Given the description of an element on the screen output the (x, y) to click on. 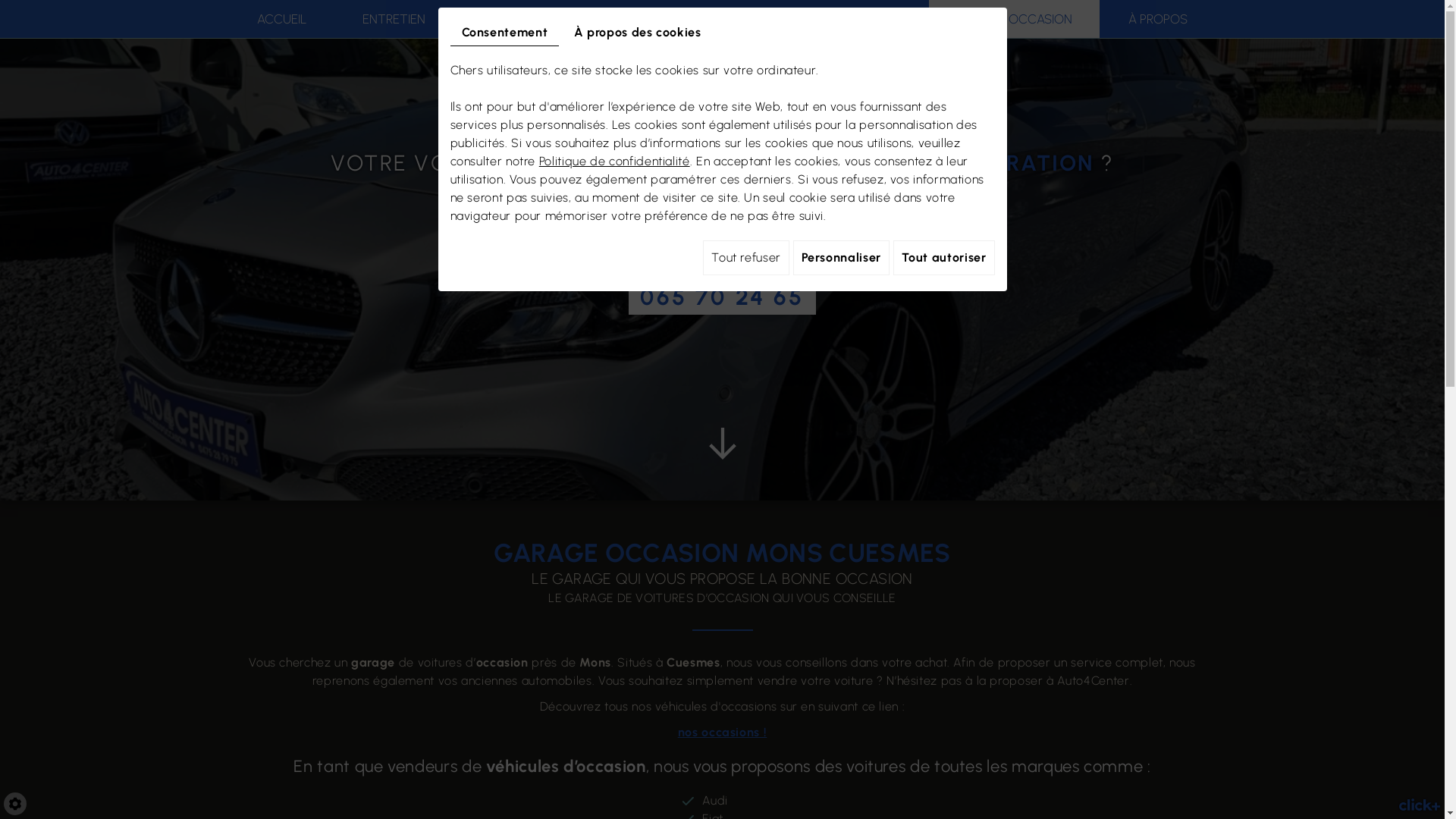
Consentement Element type: text (504, 32)
nos occasions ! Element type: text (722, 731)
Personnaliser Element type: text (841, 257)
GARAGE OCCASION Element type: text (1013, 18)
NOS OCCASIONS Element type: text (657, 18)
ENTRETIEN Element type: text (394, 18)
Tout refuser Element type: text (745, 257)
Tout autoriser Element type: text (943, 257)
ACCUEIL Element type: text (281, 18)
